Given the description of an element on the screen output the (x, y) to click on. 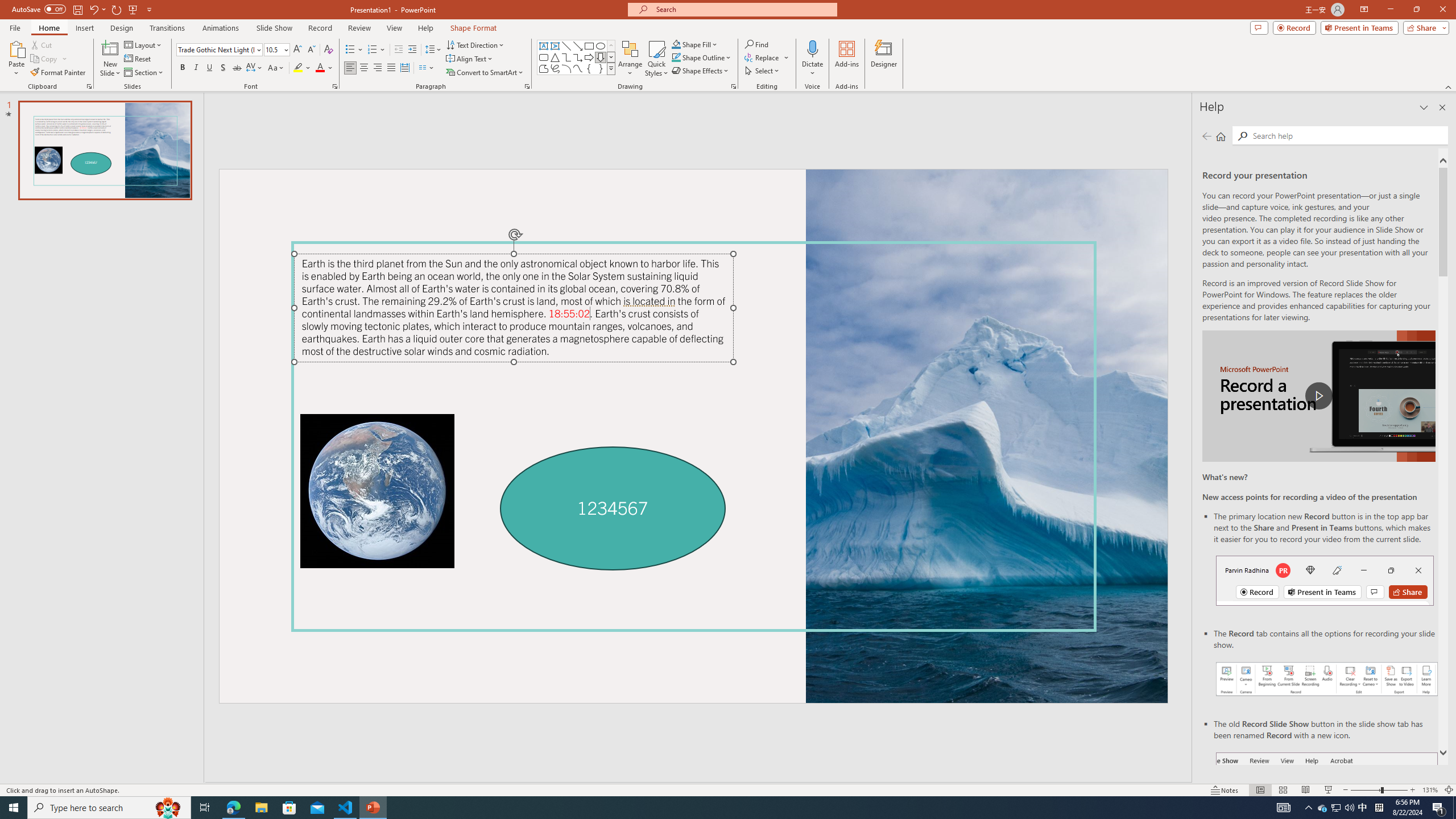
Record button in top bar (1324, 580)
